Given the description of an element on the screen output the (x, y) to click on. 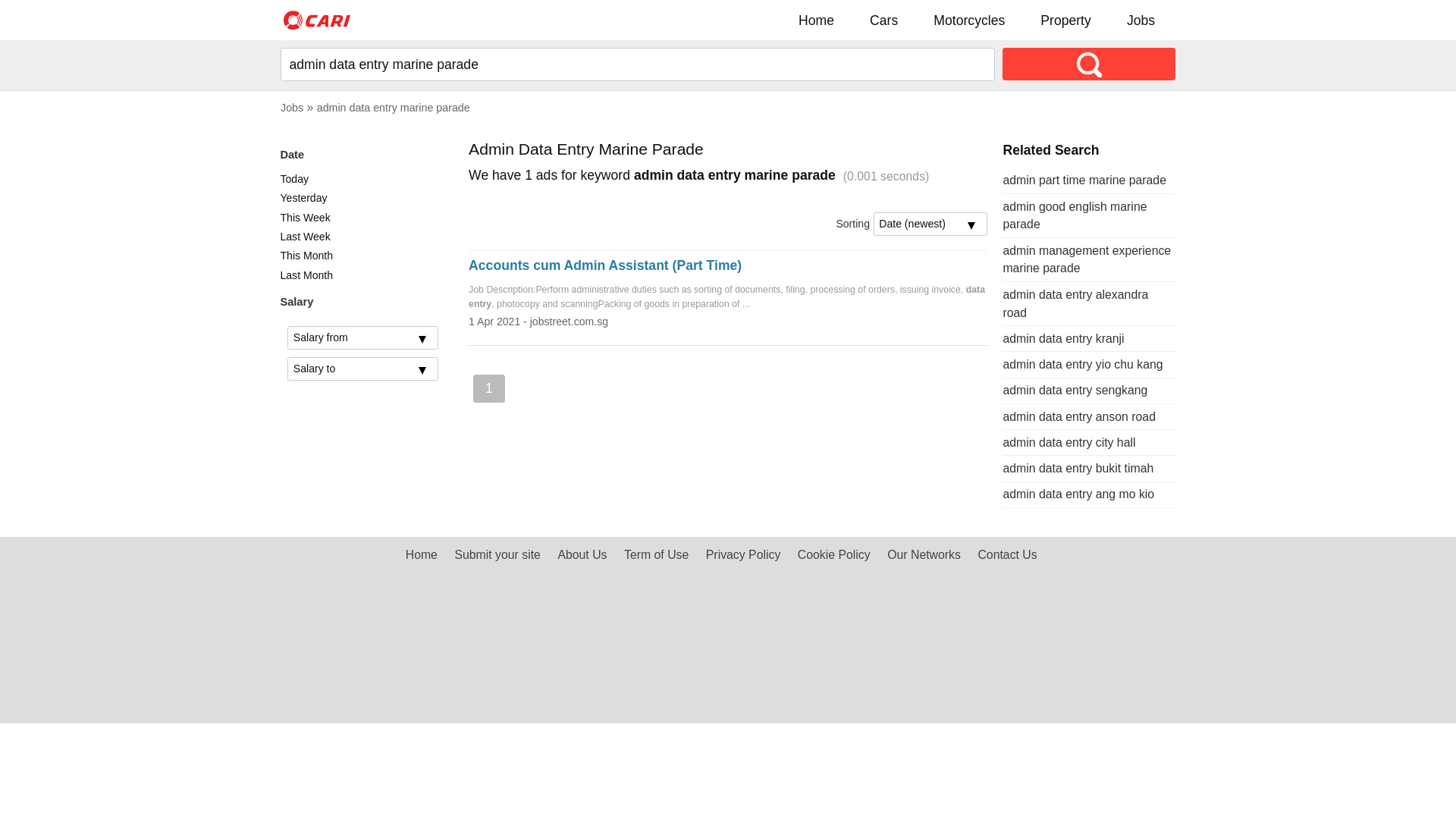
Jobs Element type: text (1140, 20)
Jobs Element type: text (291, 107)
admin data entry yio chu kang Element type: text (1082, 363)
Accounts cum Admin Assistant (Part Time) Element type: text (604, 265)
Home Element type: text (421, 554)
admin part time marine parade Element type: text (1084, 179)
Submit your site Element type: text (496, 554)
Privacy Policy Element type: text (743, 554)
About Us Element type: text (581, 554)
Contact Us Element type: text (1006, 554)
Property Element type: text (1065, 20)
admin management experience marine parade Element type: text (1086, 259)
Our Networks Element type: text (923, 554)
admin data entry bukit timah Element type: text (1077, 467)
admin good english marine parade Element type: text (1074, 215)
1 Element type: text (488, 388)
admin data entry marine parade Element type: text (393, 107)
Term of Use Element type: text (656, 554)
Cars Element type: text (883, 20)
Cookie Policy Element type: text (833, 554)
admin data entry alexandra road Element type: text (1075, 303)
admin data entry sengkang Element type: text (1074, 389)
Home Element type: text (816, 20)
Motorcycles Element type: text (969, 20)
admin data entry ang mo kio Element type: text (1078, 493)
admin data entry kranji Element type: text (1062, 338)
admin data entry anson road Element type: text (1078, 416)
admin data entry city hall Element type: text (1068, 442)
